Given the description of an element on the screen output the (x, y) to click on. 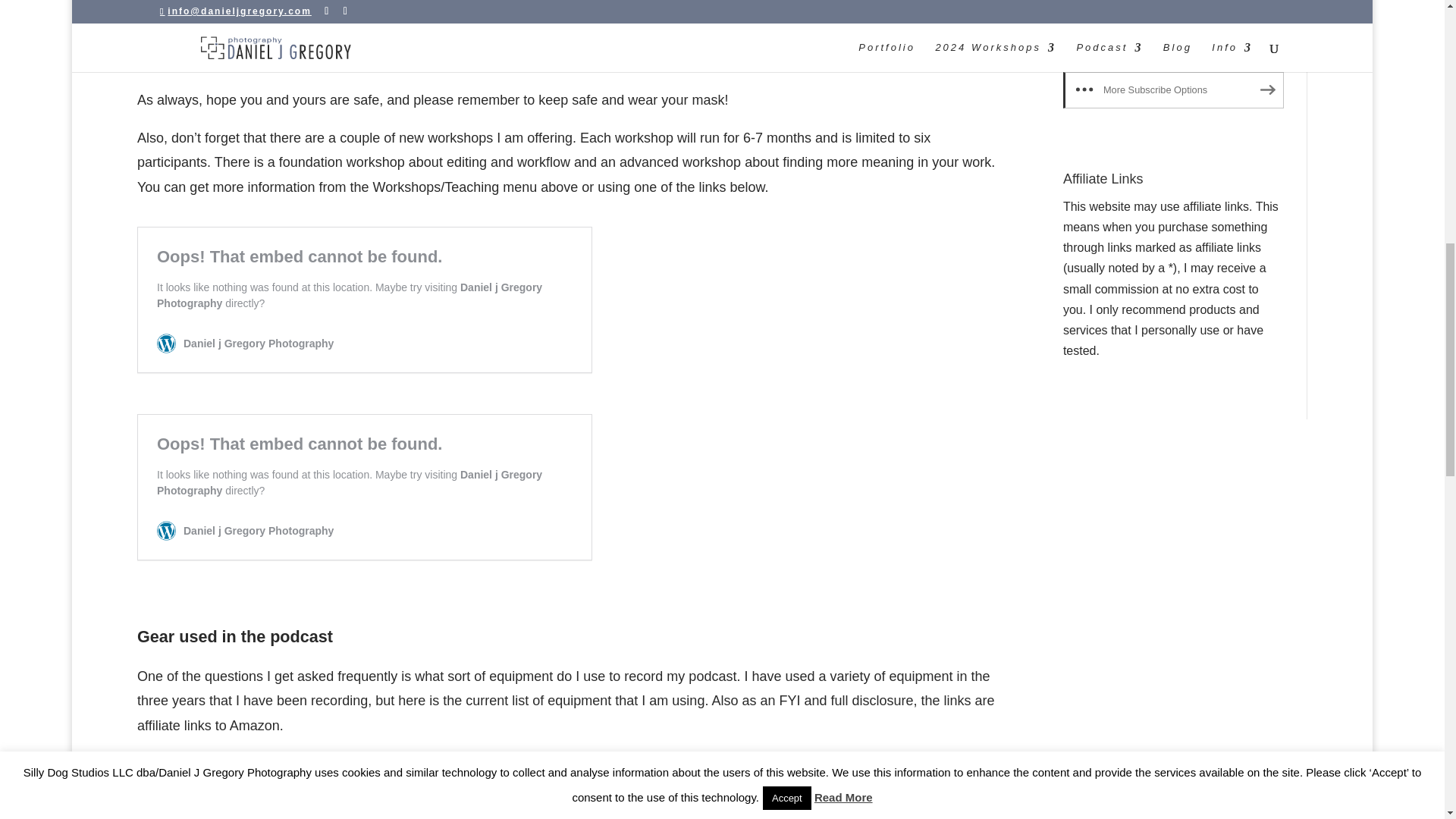
More Subscribe Options (1173, 90)
Subscribe on Android (1173, 8)
Subscribe on TuneIn (1173, 44)
